Given the description of an element on the screen output the (x, y) to click on. 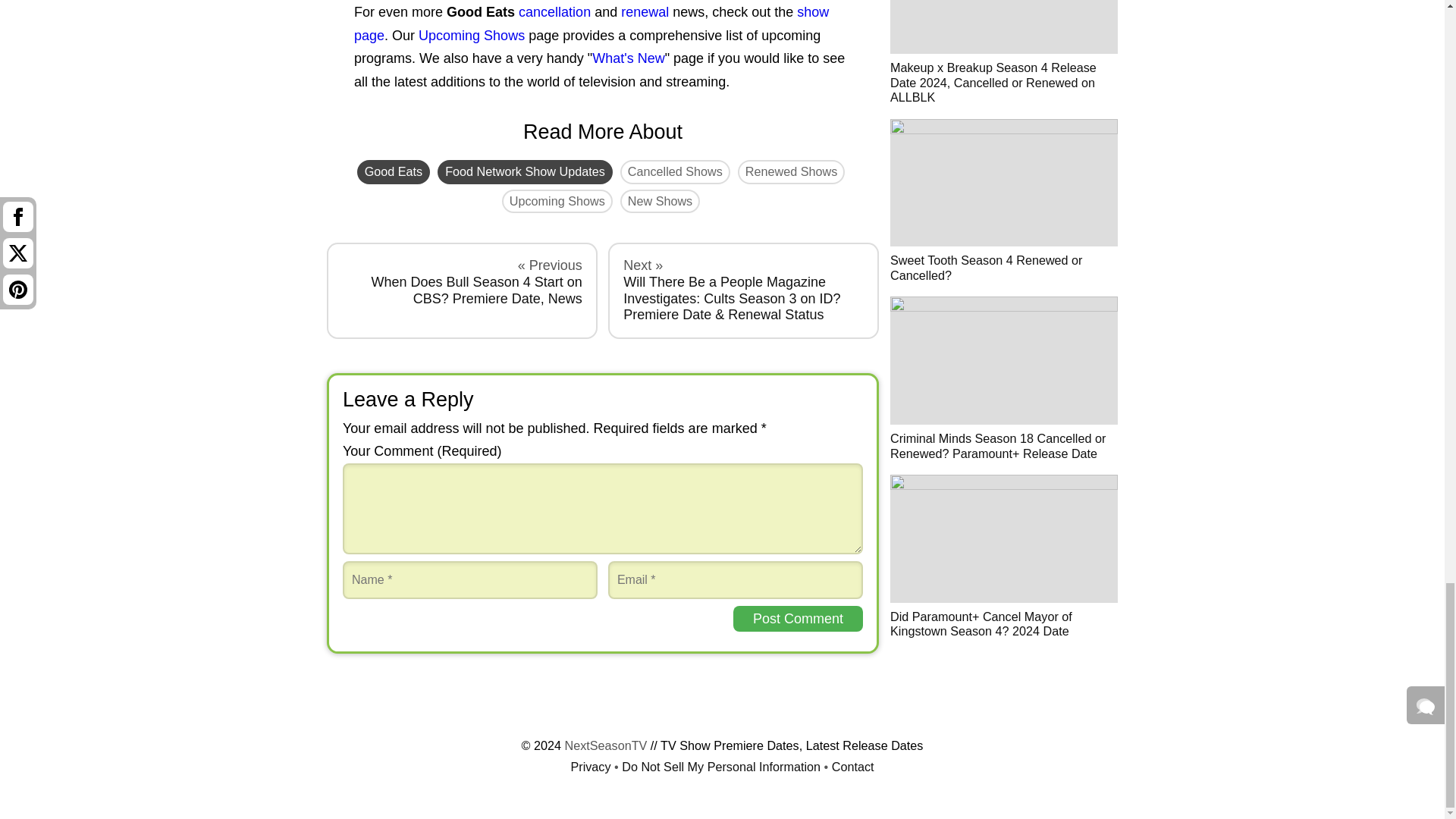
Post Comment (798, 619)
